Given the description of an element on the screen output the (x, y) to click on. 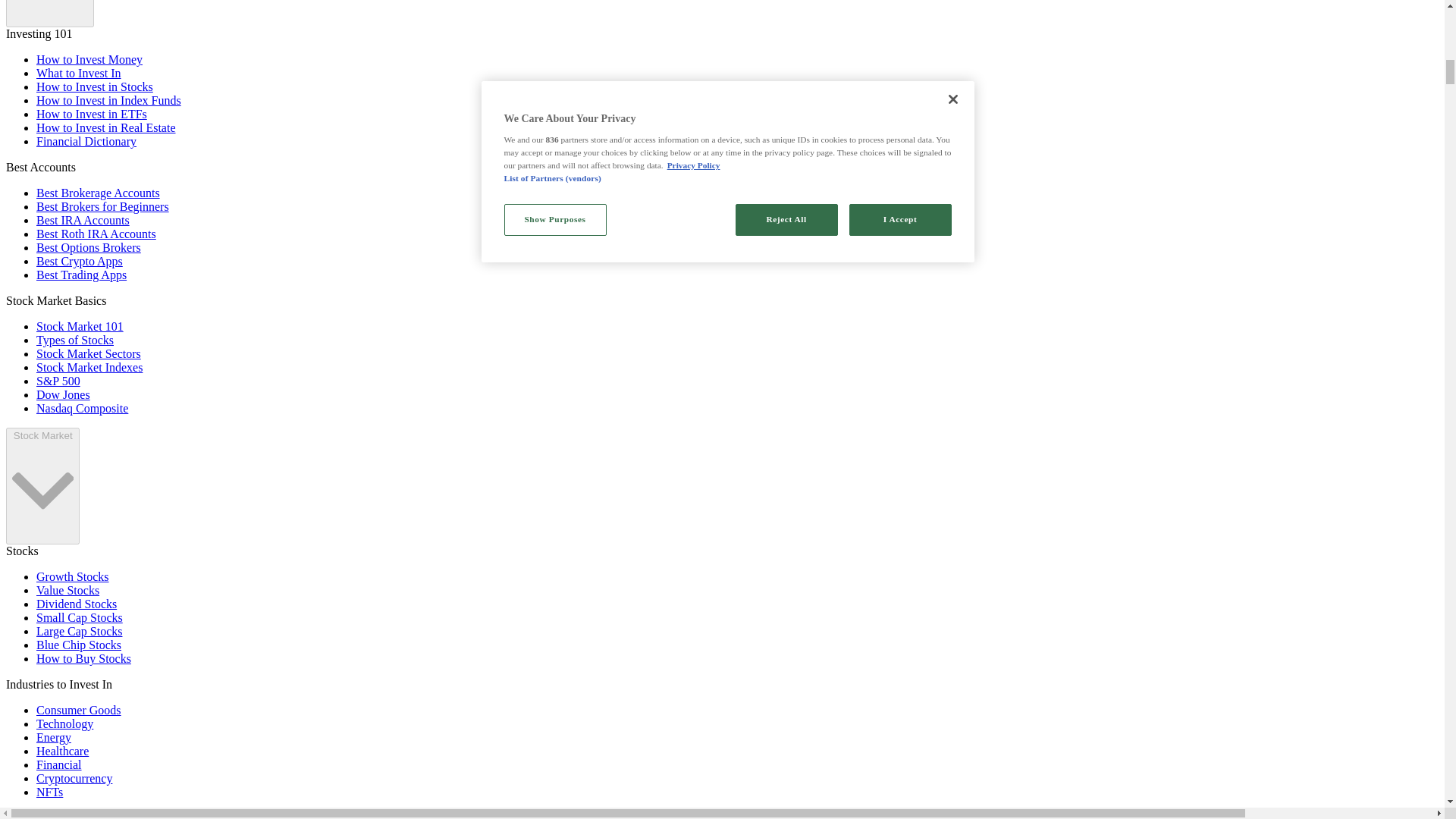
Consumer Goods (78, 709)
How to Invest Money (89, 59)
Best Options Brokers (88, 246)
How to Invest in Index Funds (108, 100)
Best Roth IRA Accounts (95, 233)
Large Cap Stocks (79, 631)
Stock Market Sectors (88, 353)
What to Invest In (78, 72)
angle-down (49, 11)
Best Brokers for Beginners (102, 205)
Stock Market Indexes (89, 367)
Stock Market 101 (79, 326)
Best Crypto Apps (79, 260)
Small Cap Stocks (79, 617)
How to Invest in Stocks (94, 86)
